Given the description of an element on the screen output the (x, y) to click on. 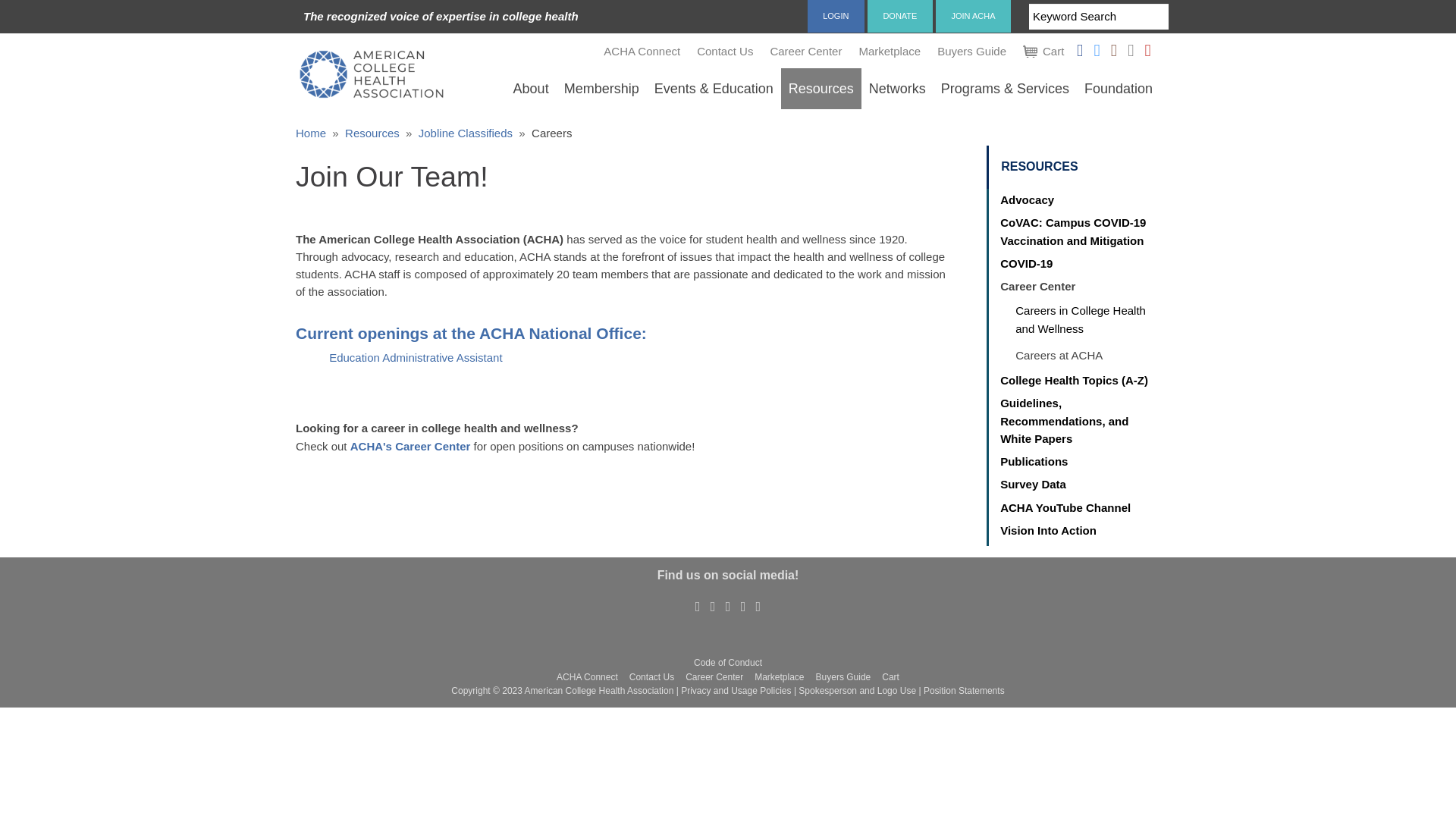
About (530, 87)
Marketplace (889, 50)
Keyword Search (1099, 16)
LOGIN (835, 15)
DONATE (900, 15)
JOIN ACHA (972, 15)
Buyers Guide (971, 50)
Career Center (805, 50)
Contact Us (724, 50)
ACHA Homepage (370, 72)
ACHA Connect (641, 50)
About (530, 87)
Keyword Search (1099, 16)
Cart (1043, 50)
